Given the description of an element on the screen output the (x, y) to click on. 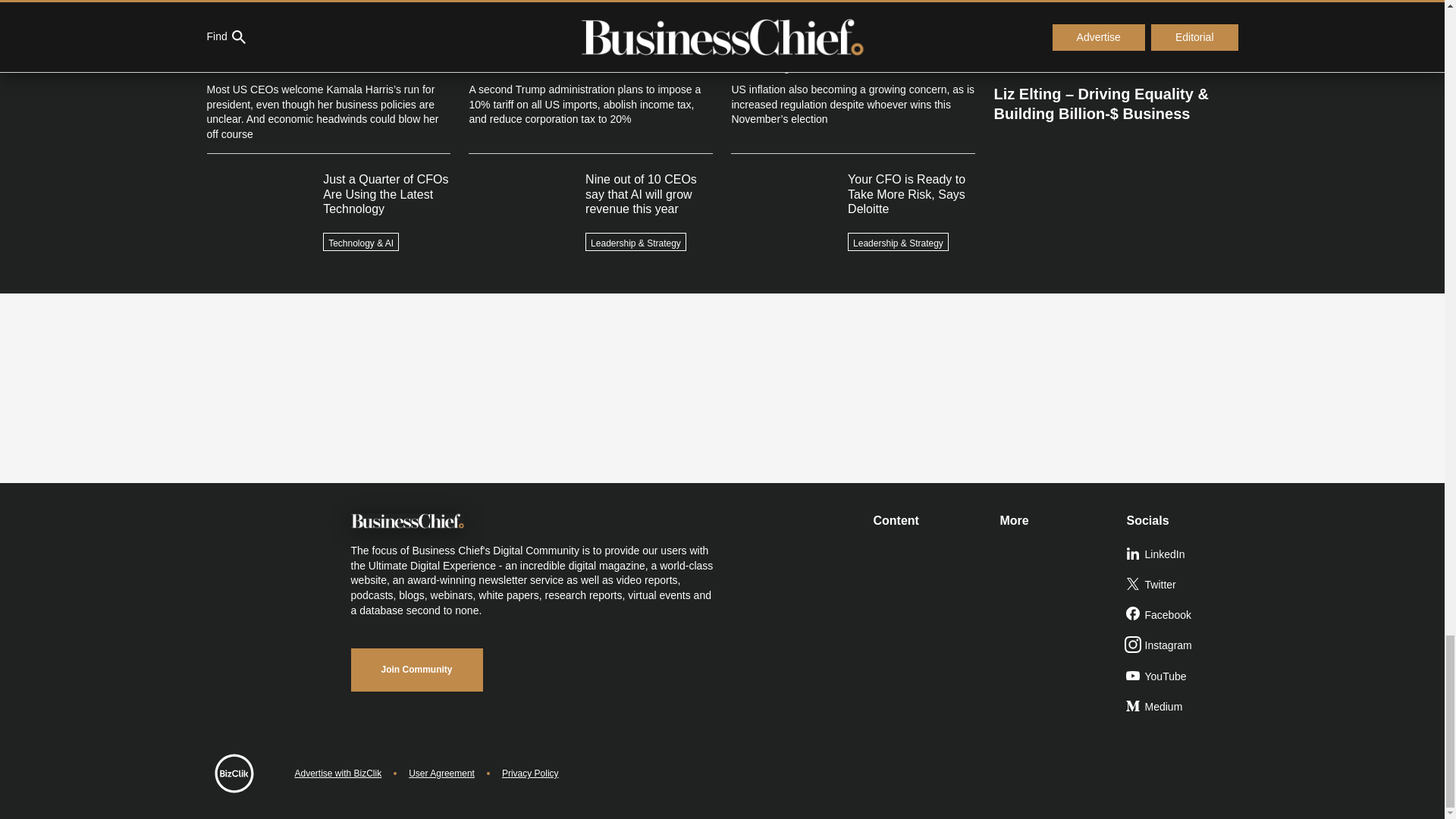
Amelia DeLuca, CSO at Delta Air Lines on Female Leadership (1114, 39)
Join Community (415, 669)
Business Bosses Call for Tax Certainty from UK Government (1114, 3)
